Given the description of an element on the screen output the (x, y) to click on. 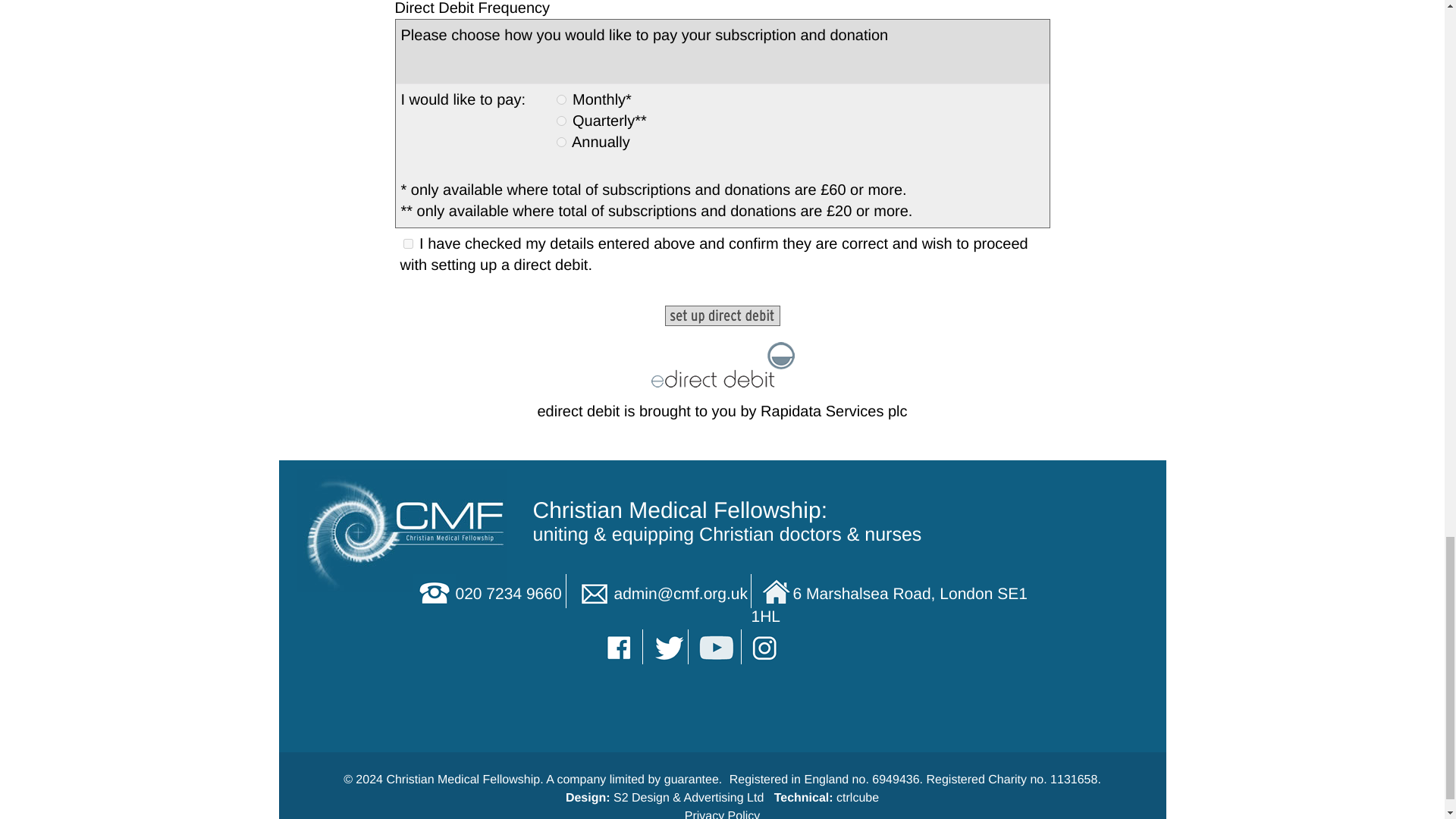
q (561, 121)
m (561, 99)
CMF on YouTube (717, 646)
CMF on Twitter (666, 646)
CMF on Instagram (766, 646)
CMF on Facebook (620, 646)
